Given the description of an element on the screen output the (x, y) to click on. 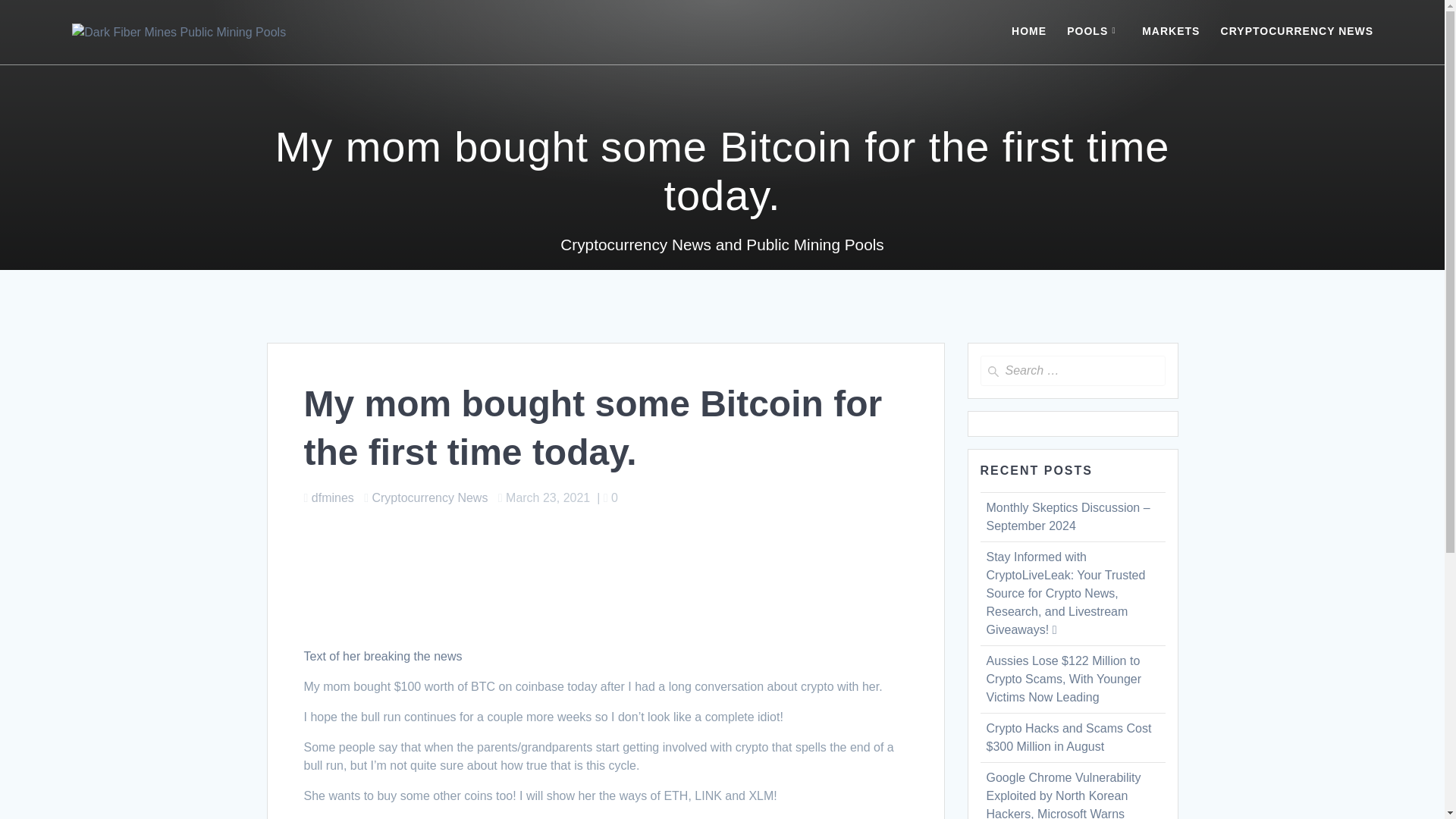
MARKETS (1170, 31)
HOME (1028, 31)
POOLS (1094, 31)
Posts by dfmines (332, 497)
CRYPTOCURRENCY NEWS (1297, 31)
